Given the description of an element on the screen output the (x, y) to click on. 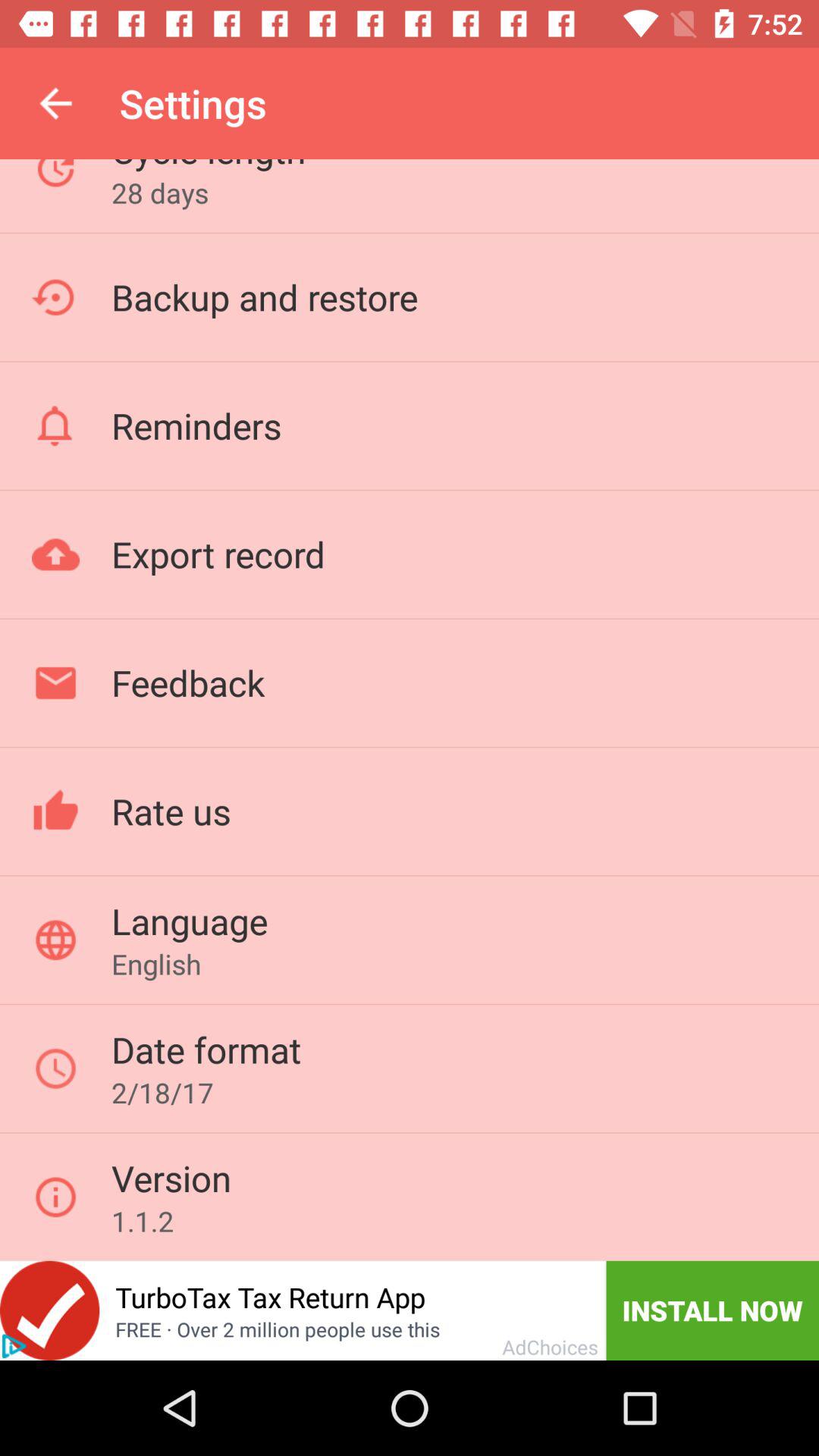
scroll until date format item (206, 1049)
